Given the description of an element on the screen output the (x, y) to click on. 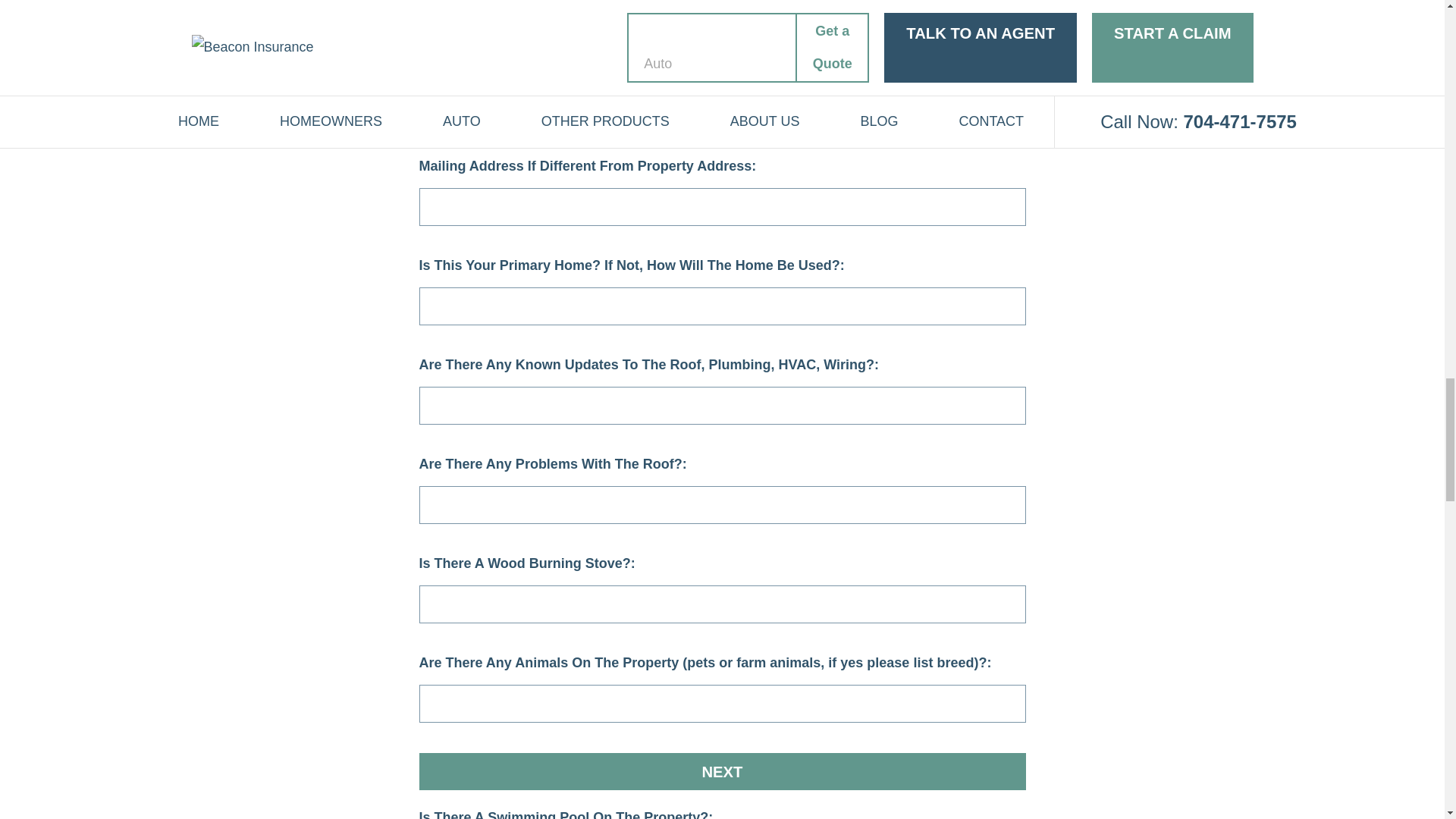
NEXT (722, 771)
